Given the description of an element on the screen output the (x, y) to click on. 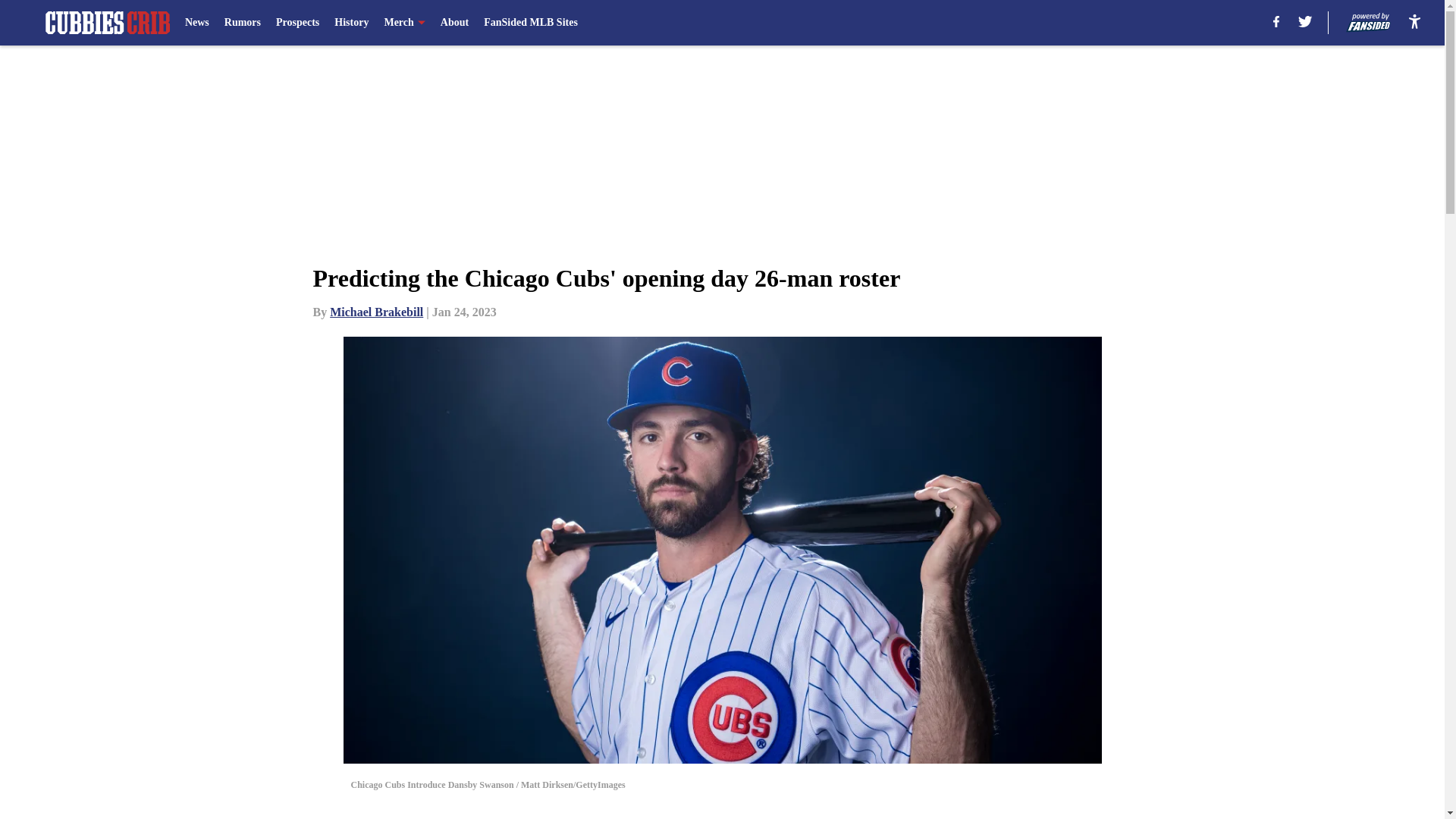
Rumors (242, 22)
FanSided MLB Sites (530, 22)
About (454, 22)
News (196, 22)
Michael Brakebill (376, 311)
History (351, 22)
Prospects (297, 22)
